Given the description of an element on the screen output the (x, y) to click on. 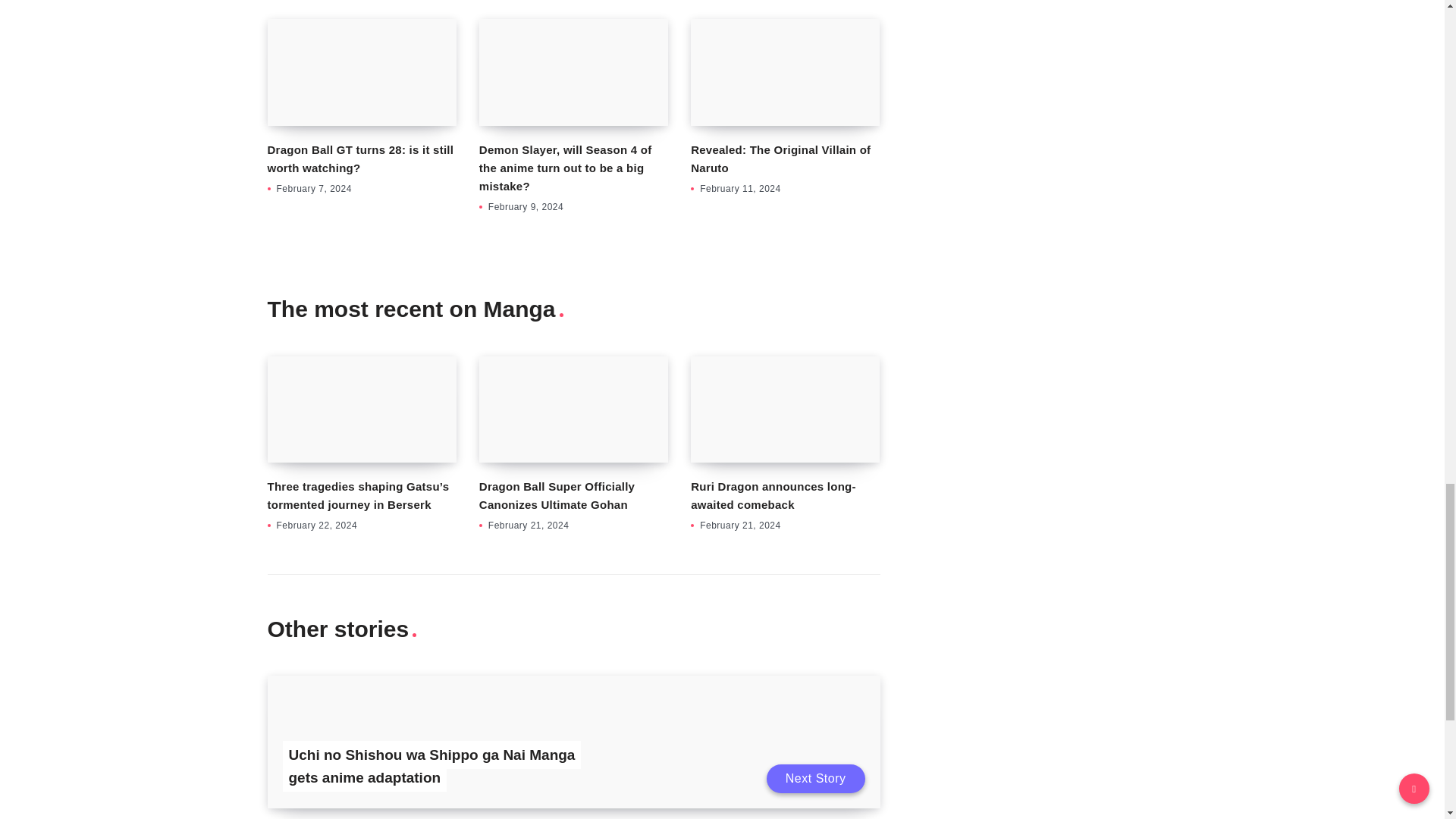
Ruri Dragon announces long-awaited comeback (784, 409)
Revealed: The Original Villain of Naruto (784, 71)
Revealed: The Original Villain of Naruto (780, 158)
Dragon Ball GT turns 28: is it still worth watching? (359, 158)
Dragon Ball Super Officially Canonizes Ultimate Gohan (573, 409)
Dragon Ball Super Officially Canonizes Ultimate Gohan (556, 495)
Dragon Ball GT turns 28: is it still worth watching? (360, 71)
